Given the description of an element on the screen output the (x, y) to click on. 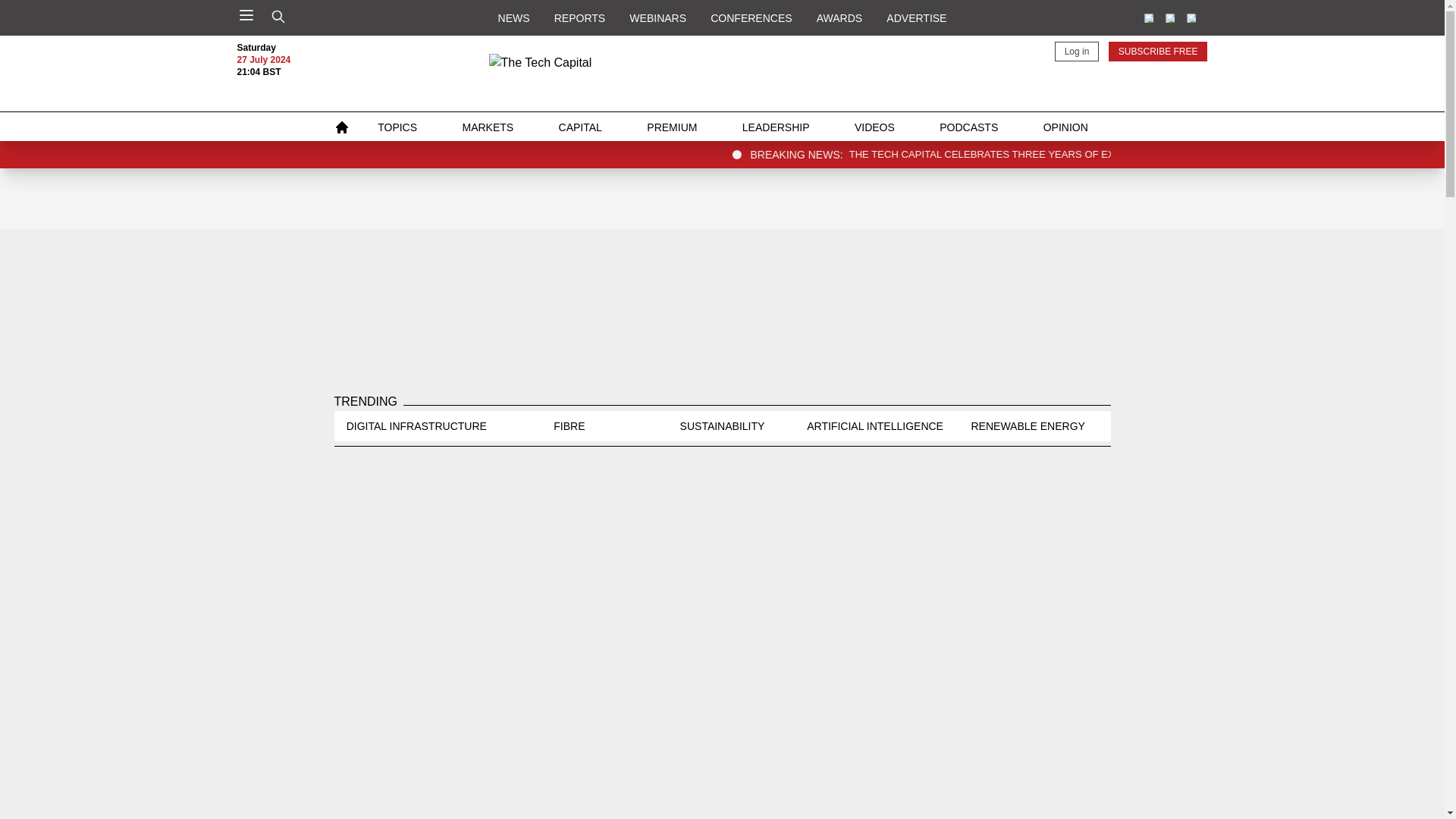
Menu (244, 14)
Return to homepage (721, 73)
Return home (341, 127)
Search (277, 16)
The Tech Capital (721, 73)
Follow us on Twitter (1168, 17)
Connect on LinkedIn (1147, 17)
Follow us on Instagram (1190, 17)
